Given the description of an element on the screen output the (x, y) to click on. 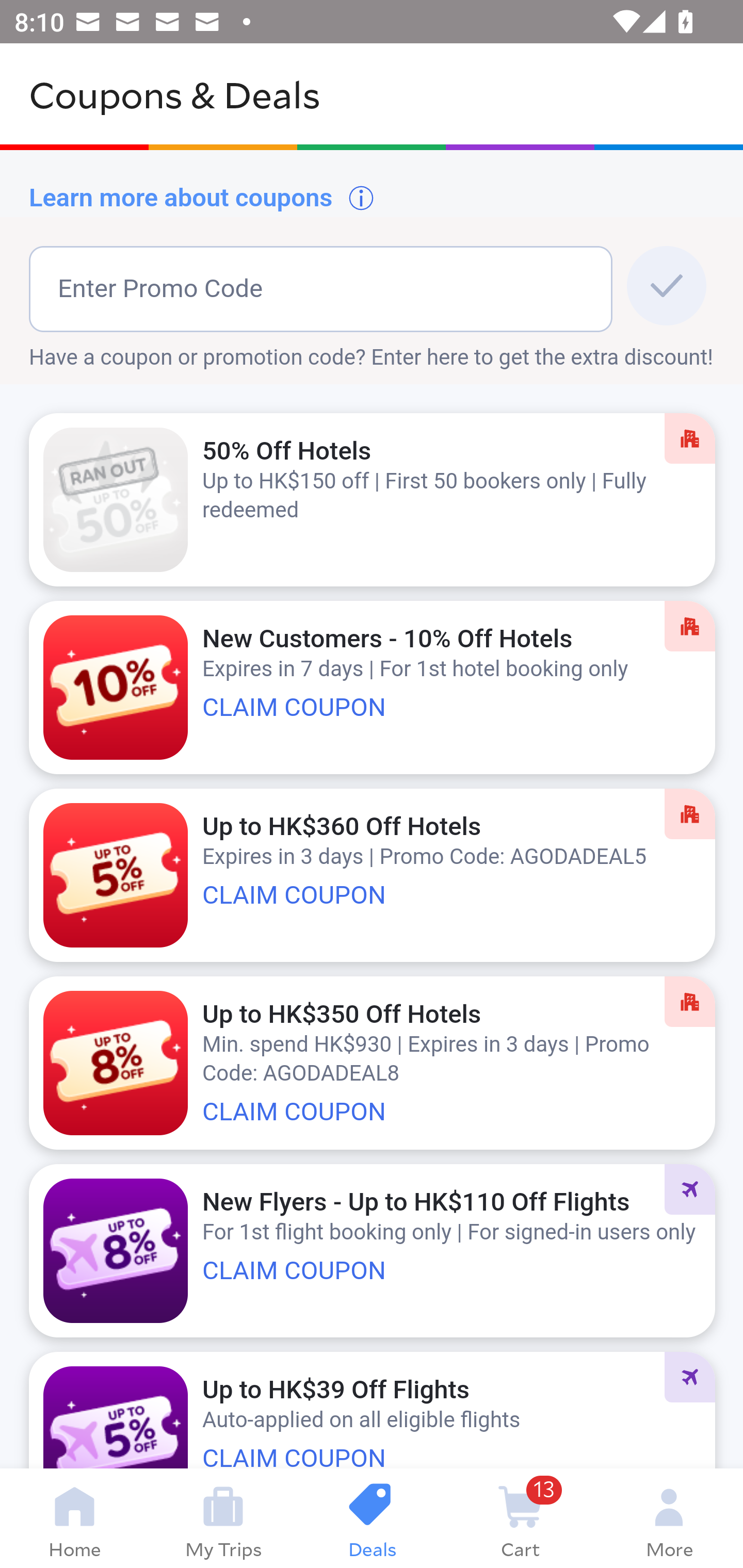
Home (74, 1518)
My Trips (222, 1518)
Deals (371, 1518)
13 Cart (519, 1518)
More (668, 1518)
